Given the description of an element on the screen output the (x, y) to click on. 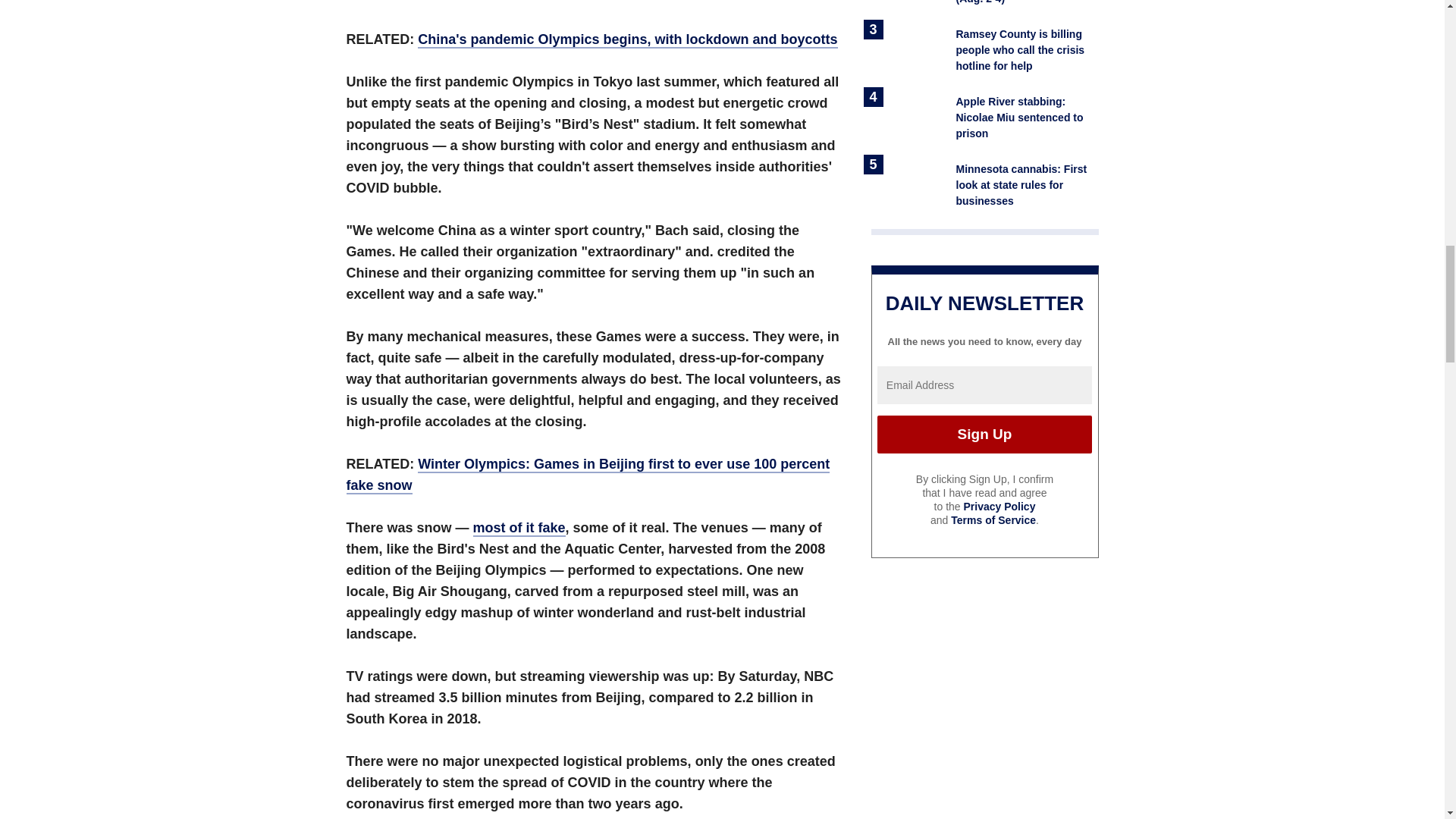
Sign Up (984, 434)
